Given the description of an element on the screen output the (x, y) to click on. 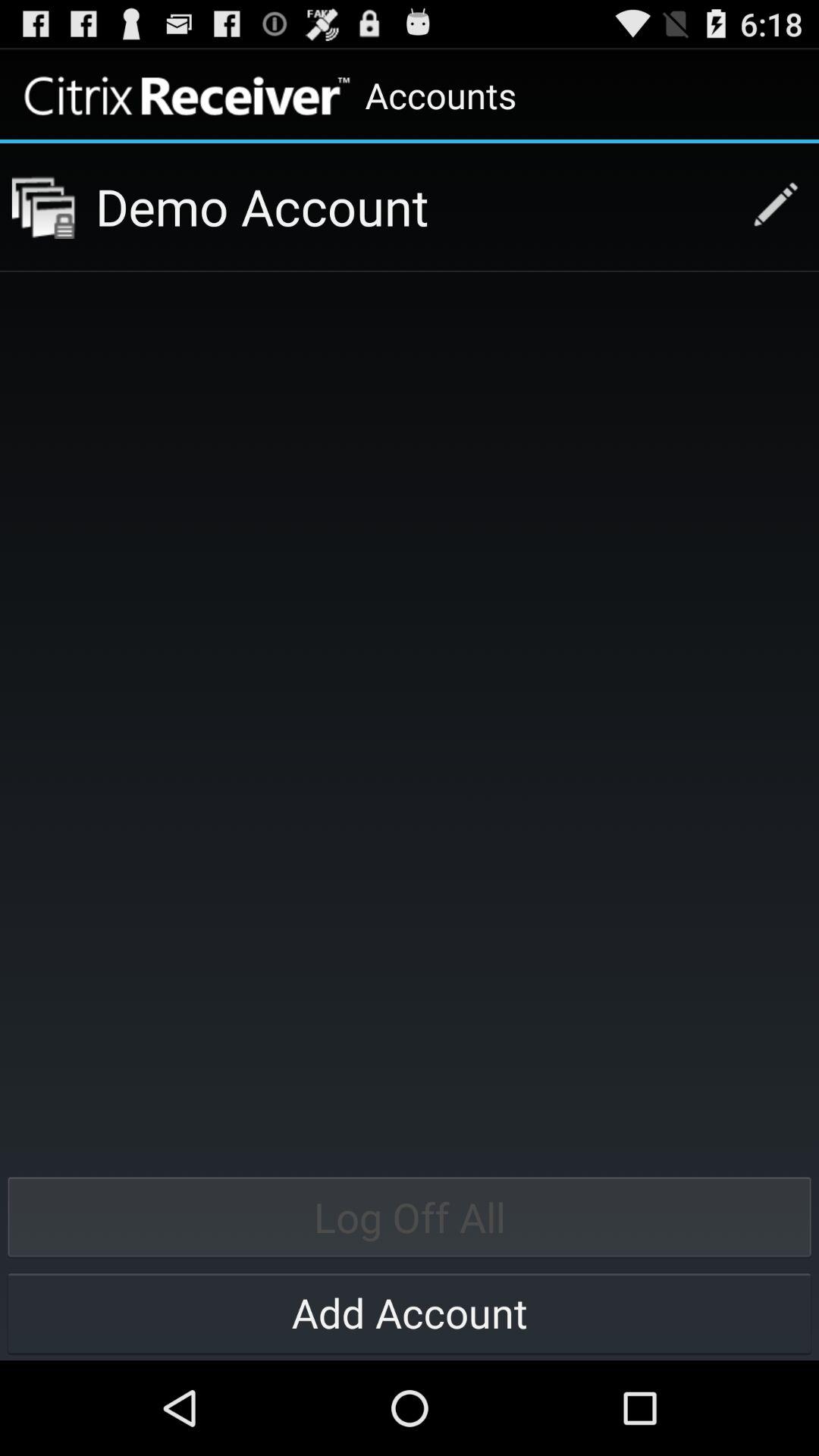
tap item above the log off all item (43, 206)
